Given the description of an element on the screen output the (x, y) to click on. 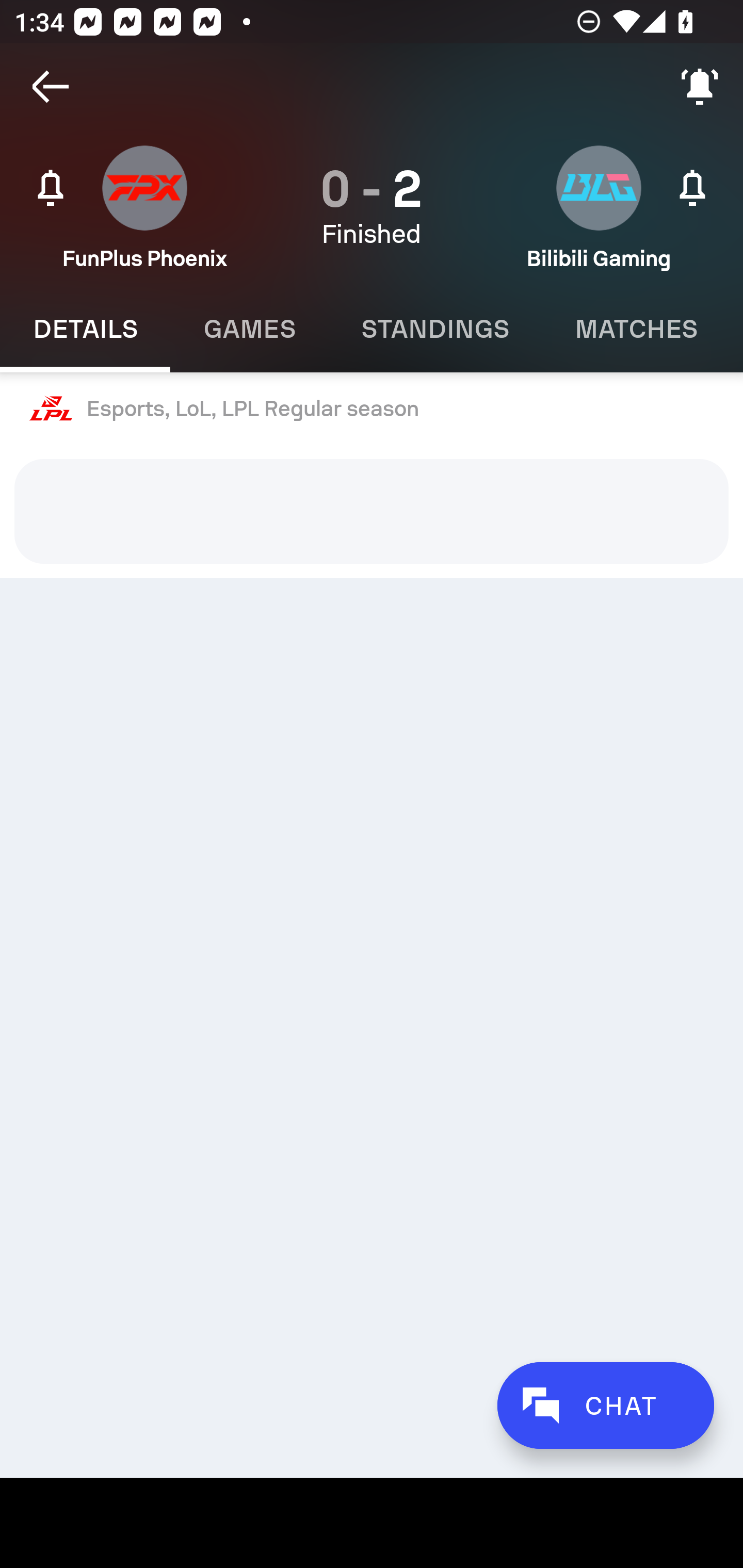
Navigate up (50, 86)
Games GAMES (249, 329)
Standings STANDINGS (434, 329)
Matches MATCHES (635, 329)
Esports, LoL, LPL Regular season (371, 409)
CHAT (605, 1405)
